Given the description of an element on the screen output the (x, y) to click on. 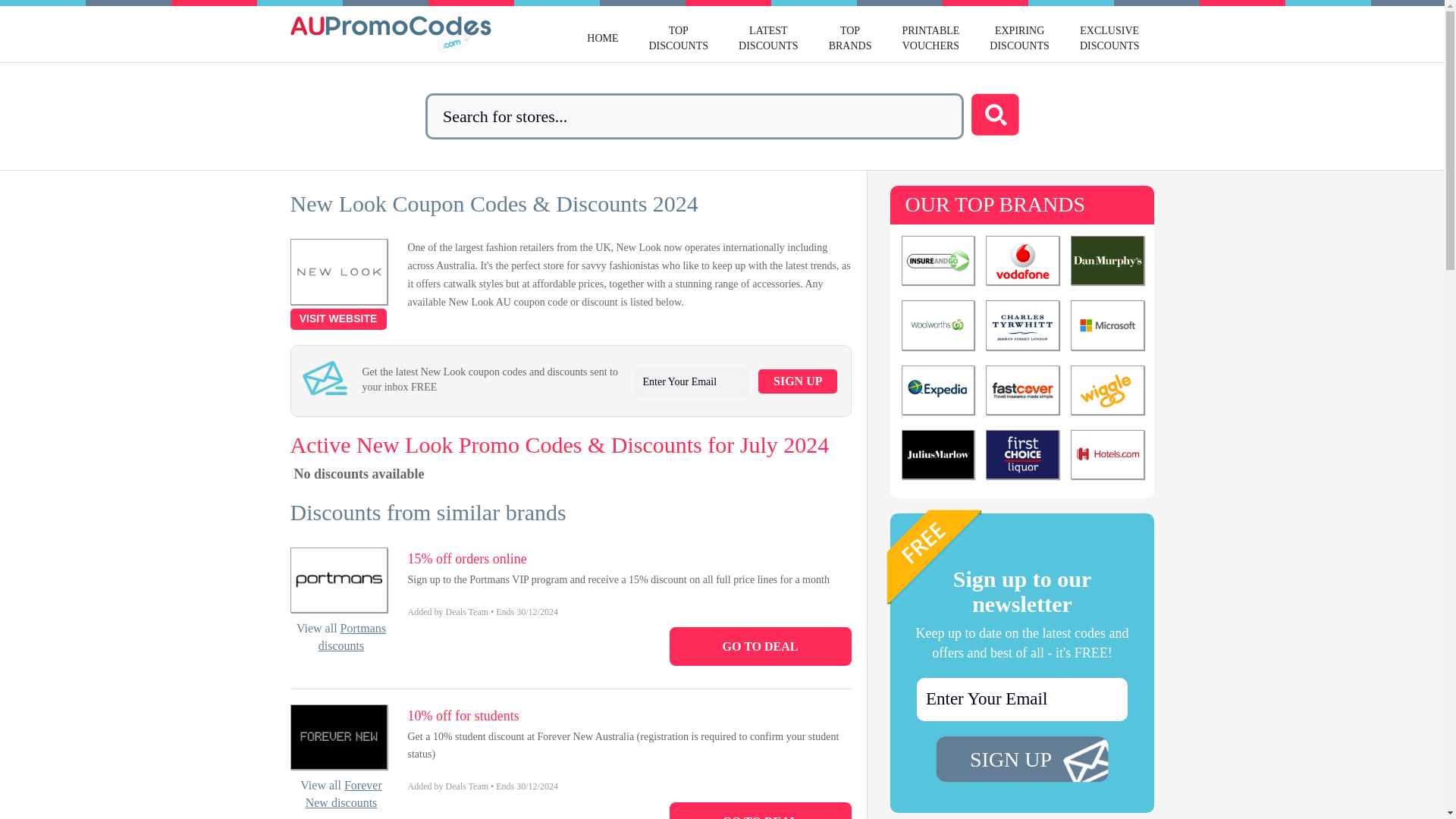
SIGN UP (797, 381)
Search for stores... (694, 116)
GO TO DEAL (930, 38)
Portmans discounts (759, 810)
VISIT WEBSITE (678, 38)
Enter Your Email (351, 636)
HOME (337, 319)
Search for stores... (1021, 699)
GO TO DEAL (602, 38)
Forever New discounts (768, 38)
